Given the description of an element on the screen output the (x, y) to click on. 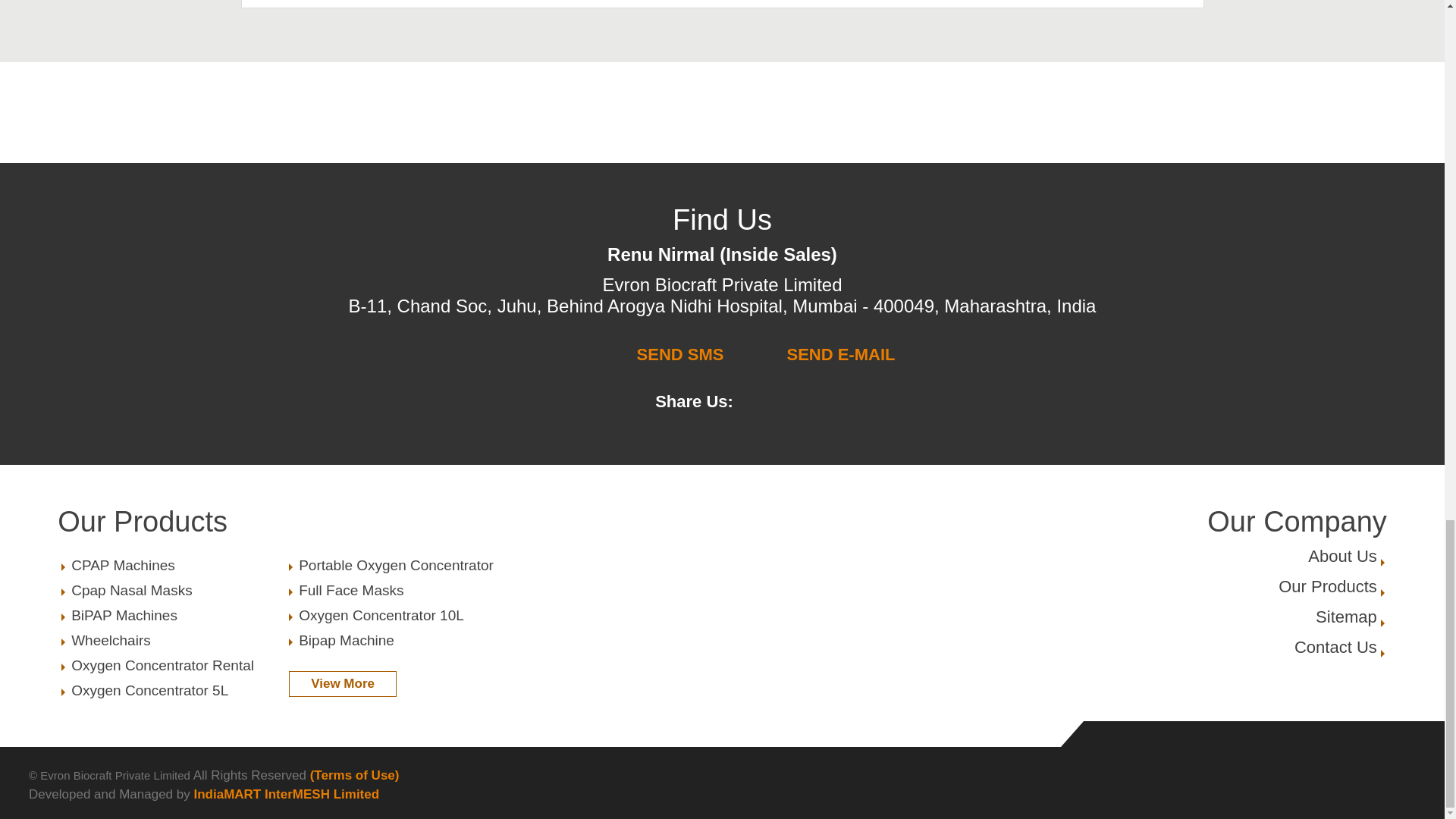
View More (342, 683)
Oxygen Concentrator Rental (172, 665)
Portable Oxygen Concentrator (1327, 586)
Our Products (399, 565)
CPAP Machines (285, 522)
Oxygen Concentrator 5L (172, 565)
BiPAP Machines (172, 690)
Oxygen Concentrator 10L (1346, 616)
Wheelchairs (172, 615)
Cpap Nasal Masks (1342, 556)
Bipap Machine (1335, 647)
